Given the description of an element on the screen output the (x, y) to click on. 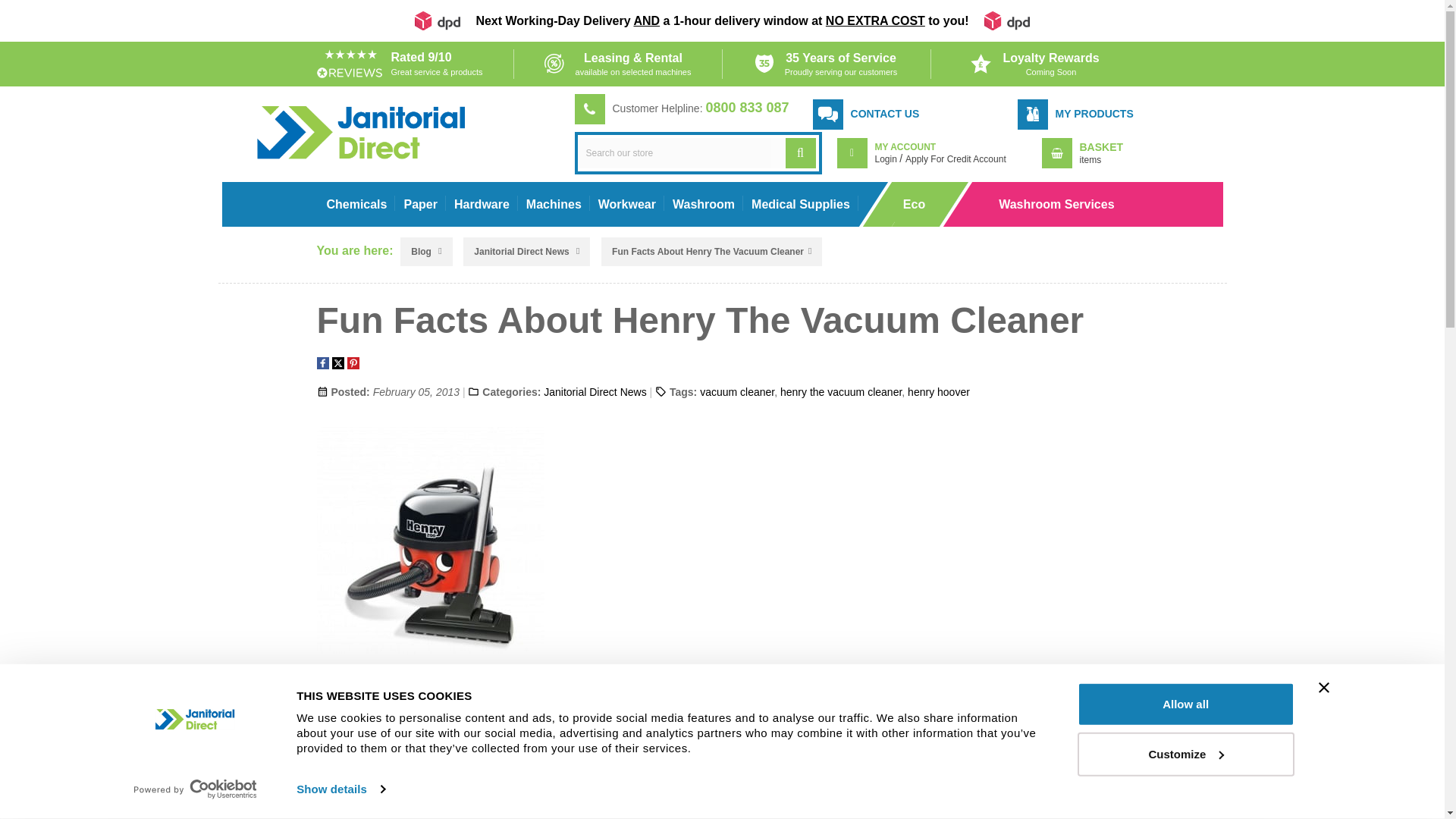
Next Working-Day Delivery (722, 20)
Show details (340, 789)
Great service (409, 63)
